Given the description of an element on the screen output the (x, y) to click on. 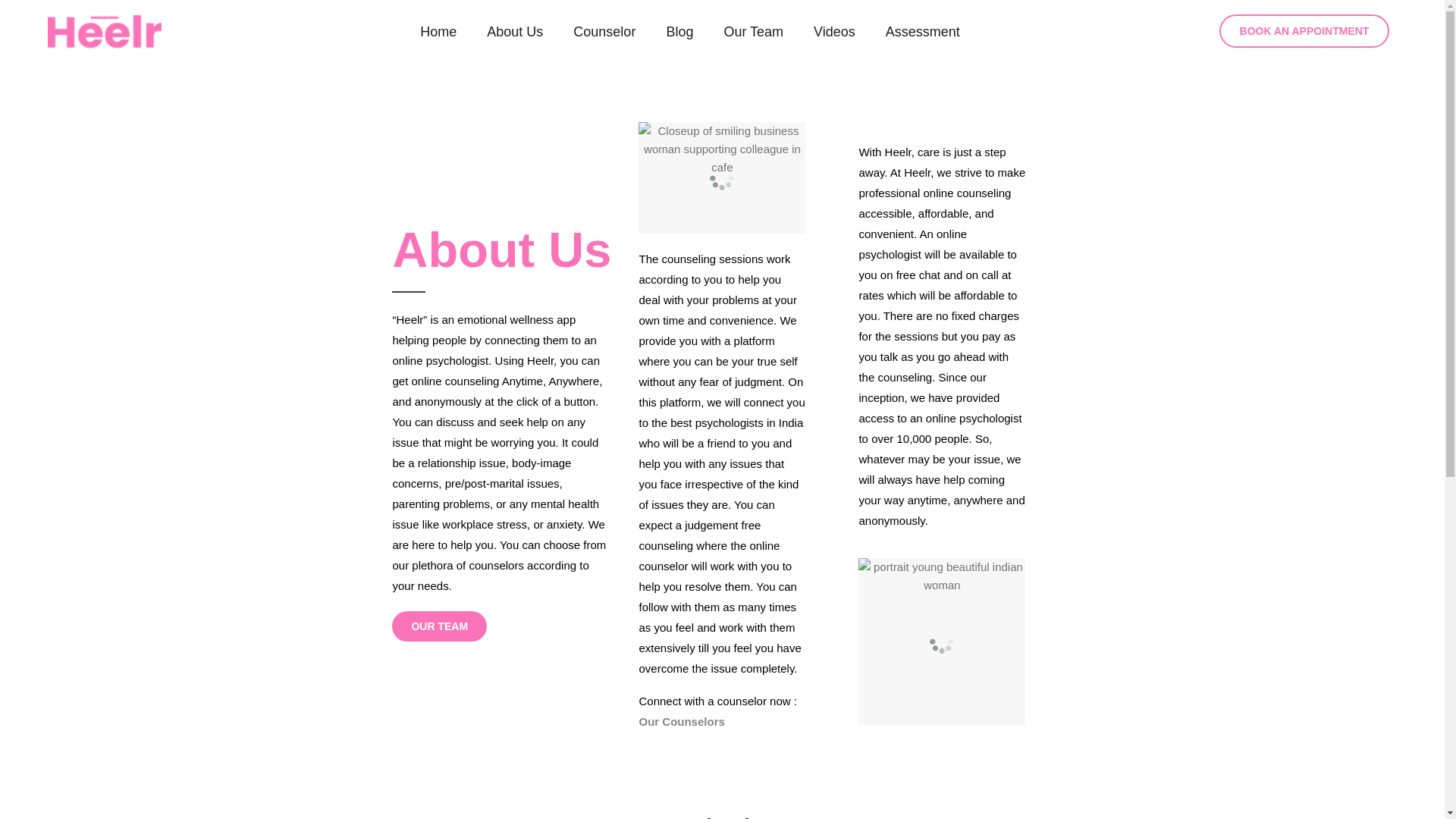
BOOK AN APPOINTMENT (1305, 30)
Counselor (604, 32)
Videos (834, 32)
Assessment (922, 32)
OUR TEAM (438, 625)
Our Counselors (681, 721)
About Us (514, 32)
Download App (721, 816)
Our Team (753, 32)
Blog (678, 32)
